Given the description of an element on the screen output the (x, y) to click on. 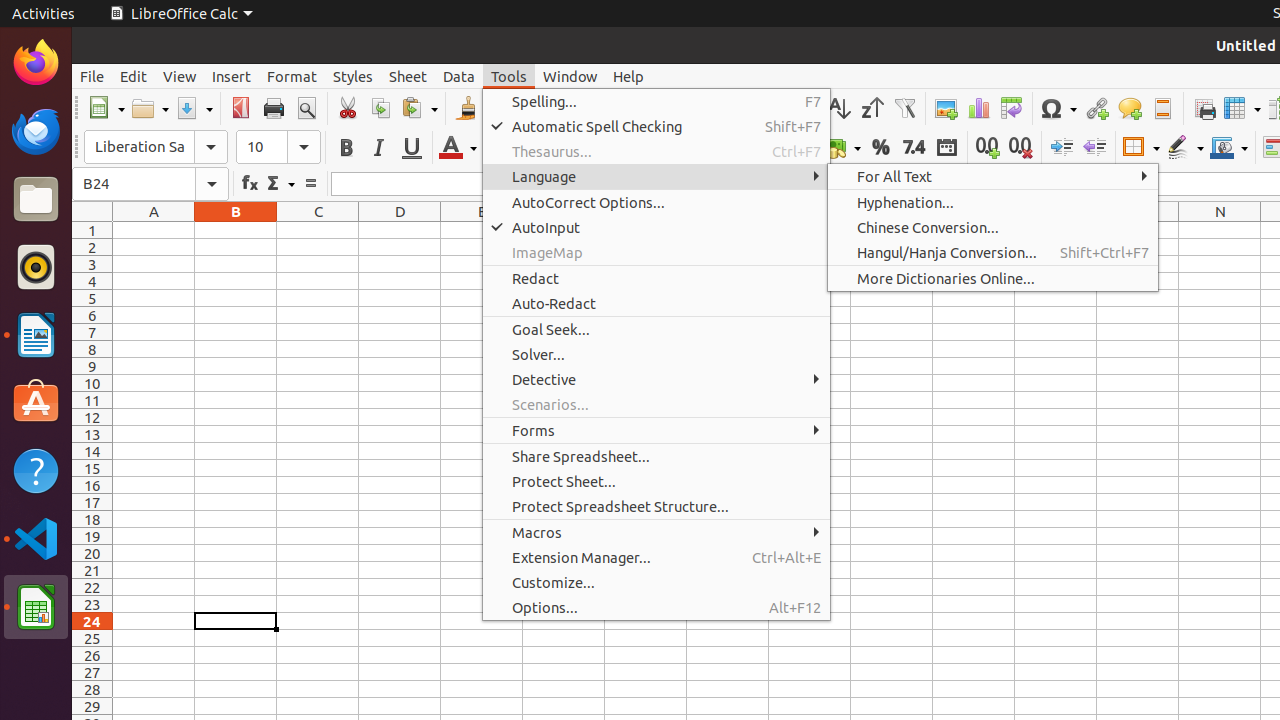
Border Style Element type: push-button (1185, 147)
Scenarios... Element type: menu-item (656, 404)
Chinese Conversion... Element type: menu-item (993, 227)
IsaHelpMain.desktop Element type: label (133, 300)
Font Size Element type: combo-box (278, 147)
